Given the description of an element on the screen output the (x, y) to click on. 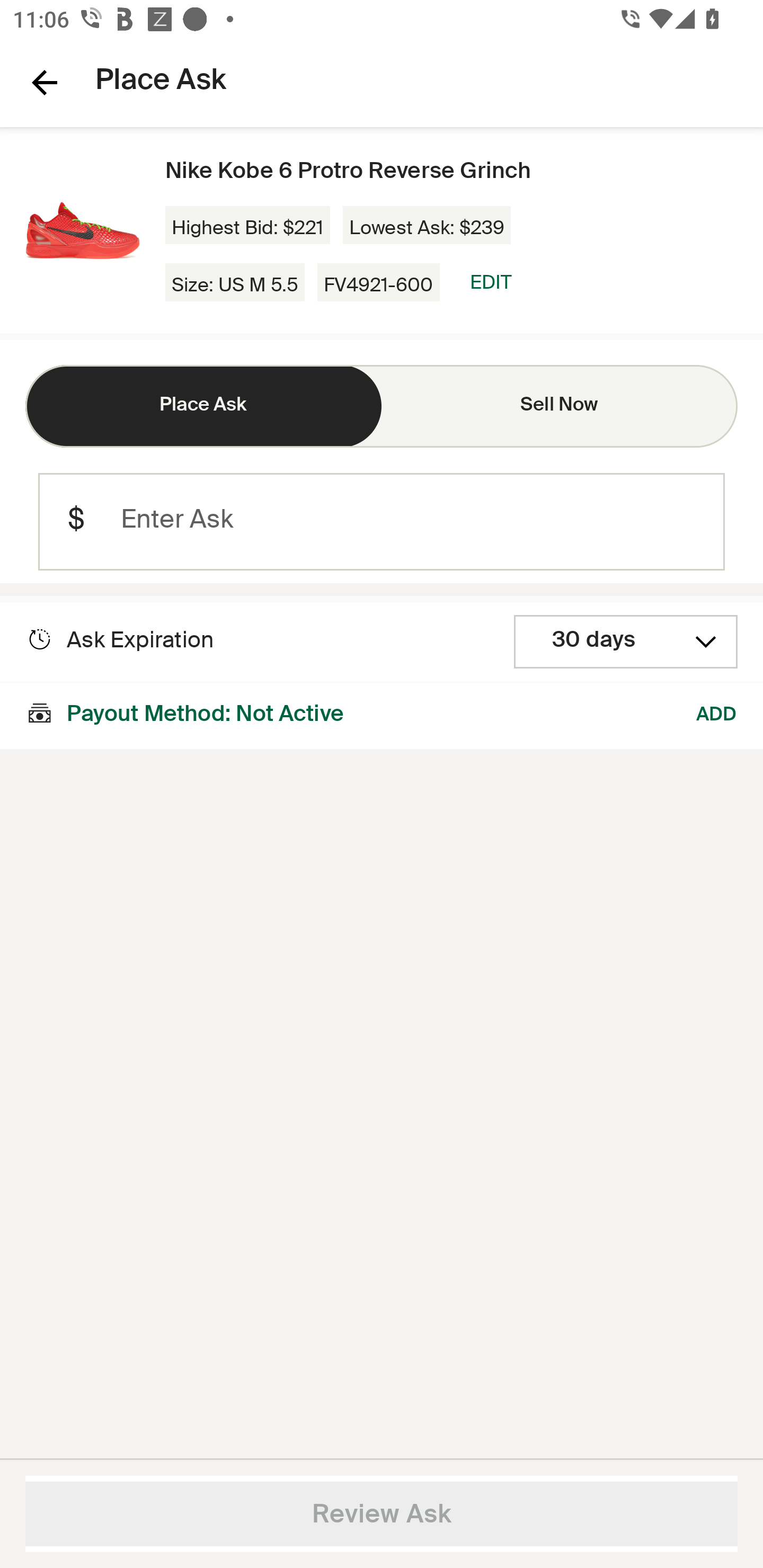
EDIT (490, 281)
Place Ask (203, 405)
Sell Now (559, 405)
$ Enter Ask (381, 521)
Expiration icon Ask Expiration (119, 640)
30 days Expiration dropdown arrow icon (625, 641)
ADD (717, 715)
reviewButtonContentDescriptionID Review Ask (381, 1513)
